Given the description of an element on the screen output the (x, y) to click on. 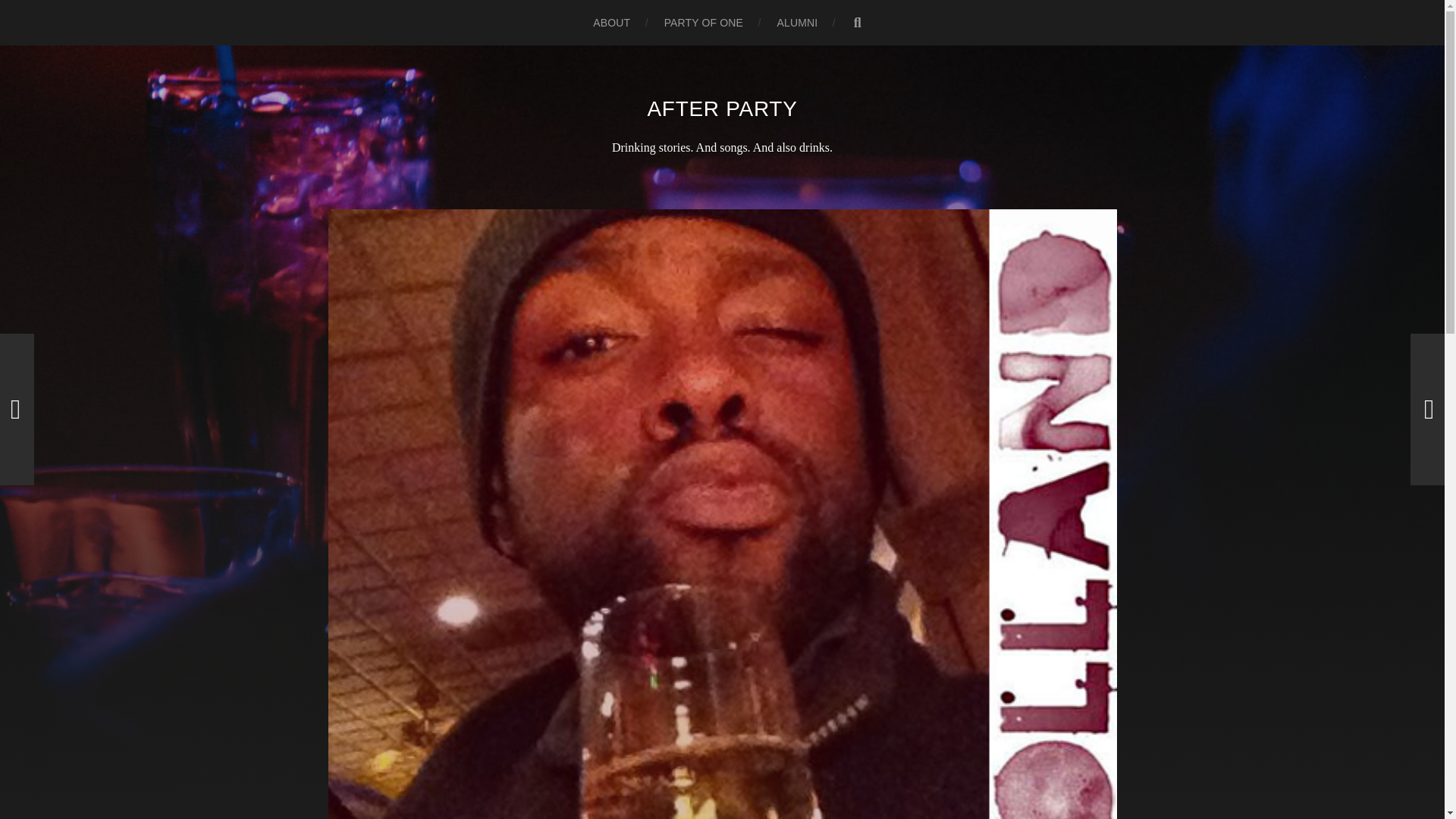
AFTER PARTY (721, 108)
ALUMNI (796, 22)
PARTY OF ONE (702, 22)
